Given the description of an element on the screen output the (x, y) to click on. 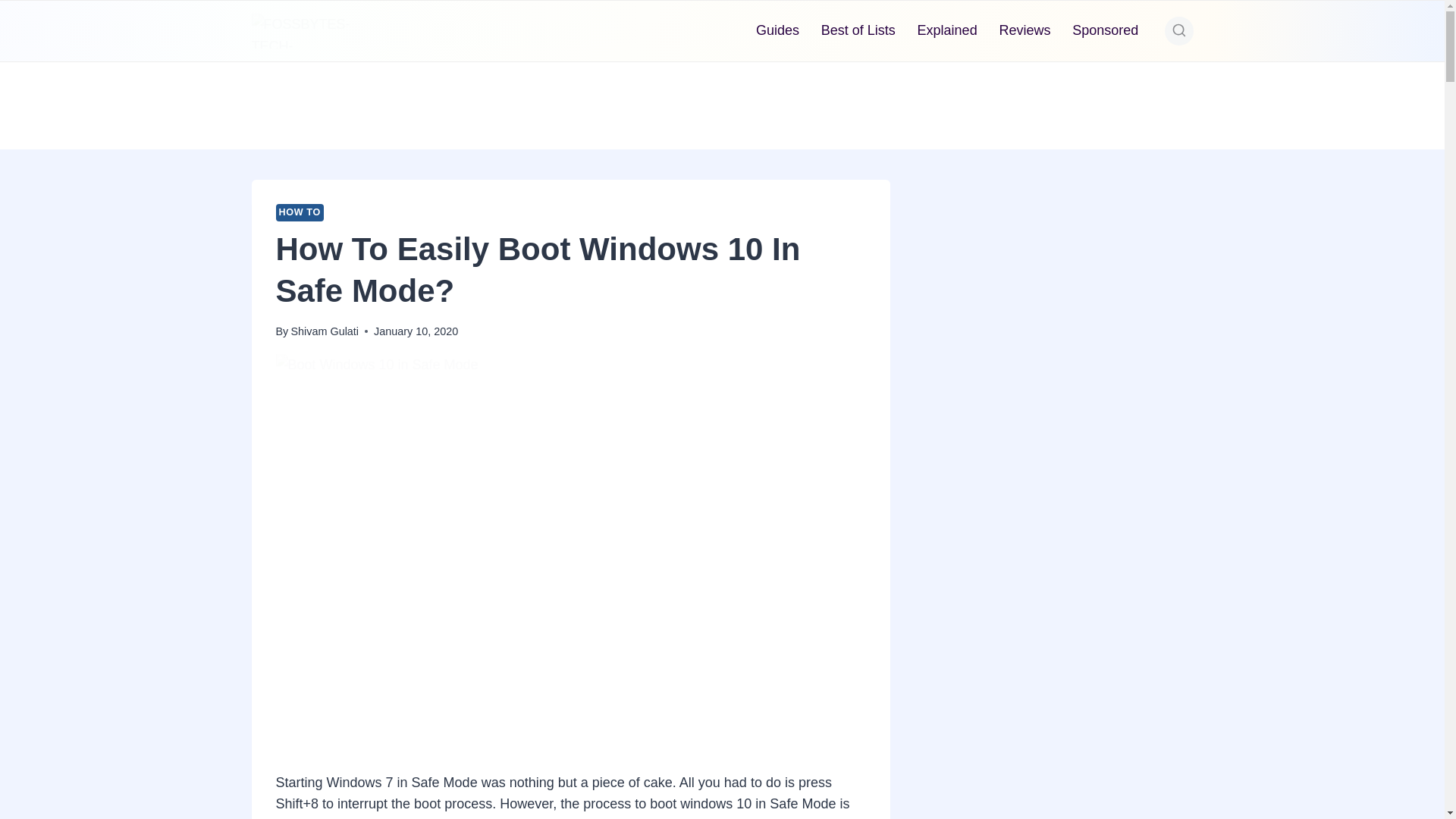
Explained (946, 30)
Best of Lists (857, 30)
Sponsored (1105, 30)
Shivam Gulati (323, 331)
HOW TO (299, 212)
Reviews (1024, 30)
Guides (777, 30)
